Given the description of an element on the screen output the (x, y) to click on. 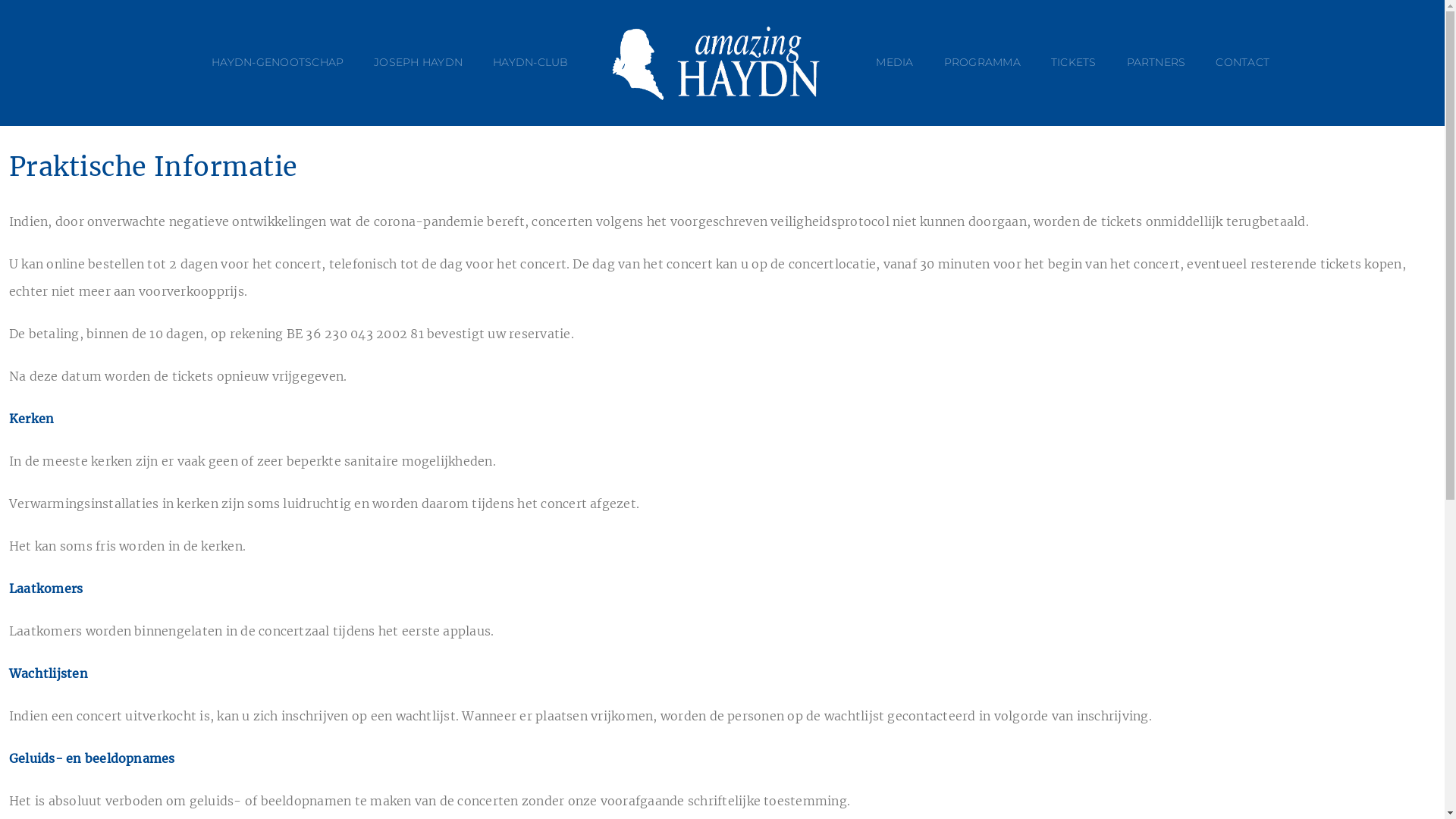
PROGRAMMA Element type: text (982, 62)
HAYDN-CLUB Element type: text (529, 62)
HAYDN-GENOOTSCHAP Element type: text (277, 62)
CONTACT Element type: text (1242, 62)
JOSEPH HAYDN Element type: text (417, 62)
MEDIA Element type: text (894, 62)
TICKETS Element type: text (1073, 62)
PARTNERS Element type: text (1156, 62)
